Given the description of an element on the screen output the (x, y) to click on. 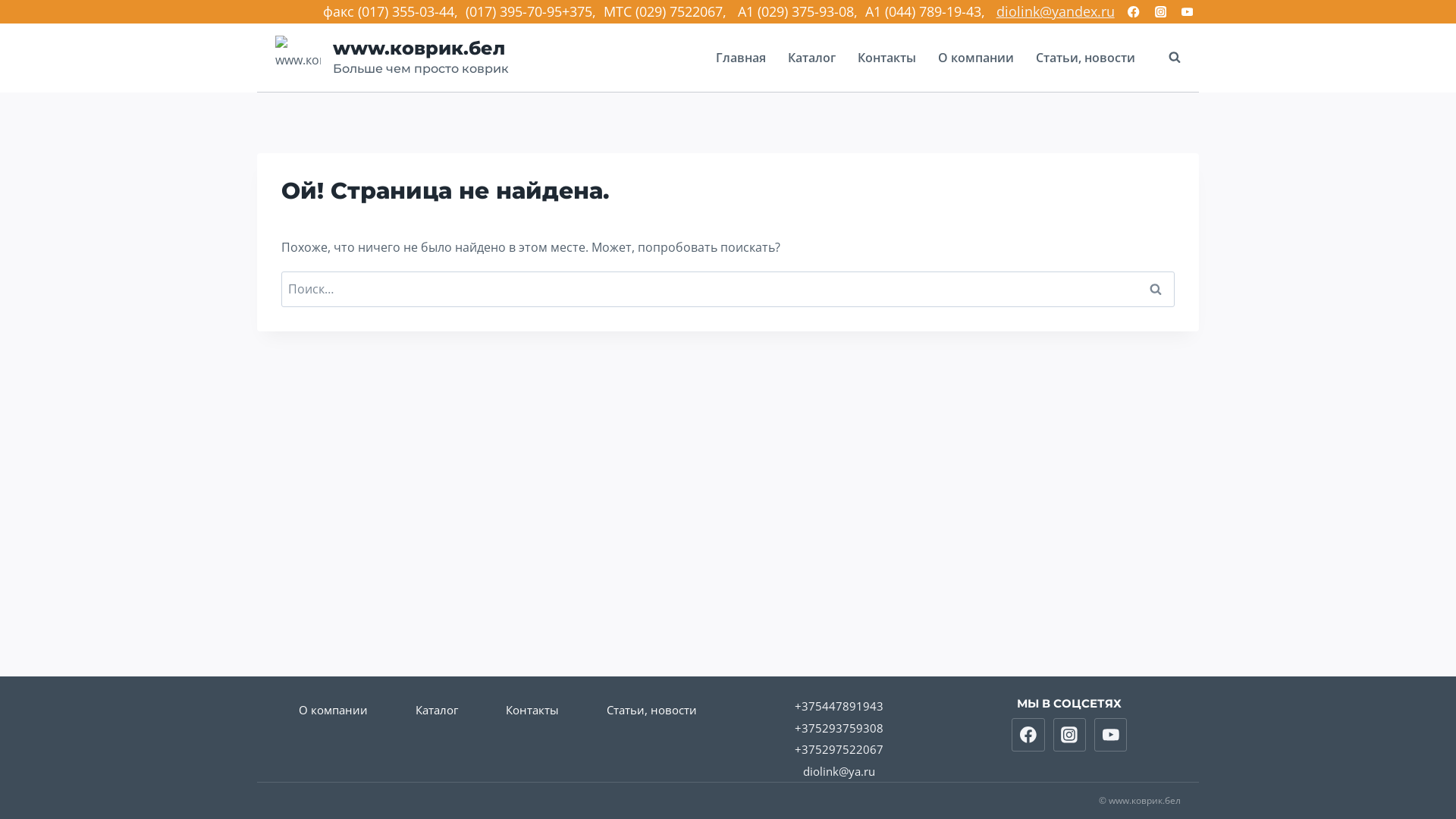
diolink@ya.ru Element type: text (839, 770)
+375447891943 Element type: text (838, 705)
+375297522067 Element type: text (838, 748)
+375293759308 Element type: text (838, 727)
diolink@yandex.ru Element type: text (1055, 11)
